Given the description of an element on the screen output the (x, y) to click on. 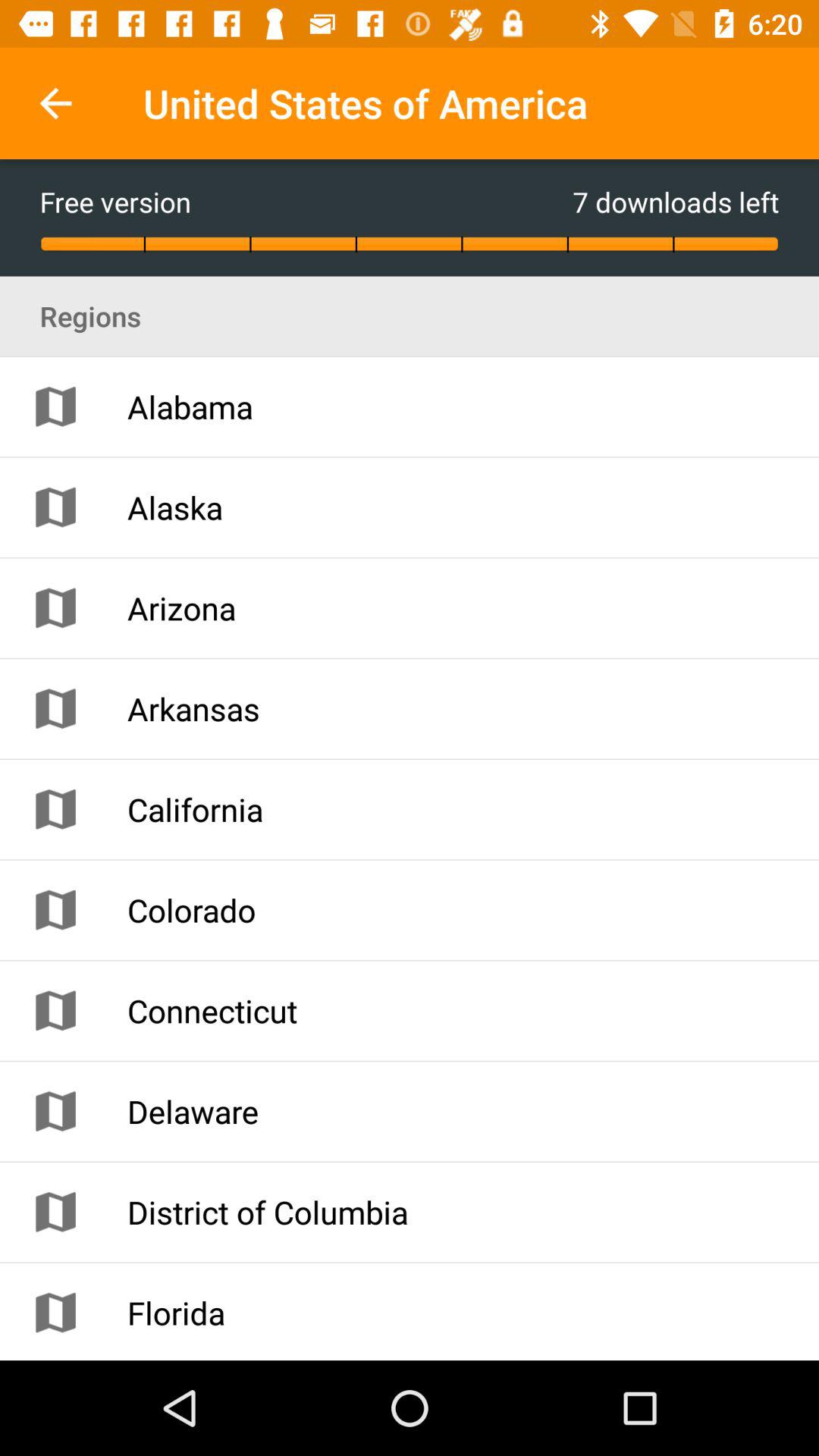
click the app next to the united states of app (55, 103)
